Given the description of an element on the screen output the (x, y) to click on. 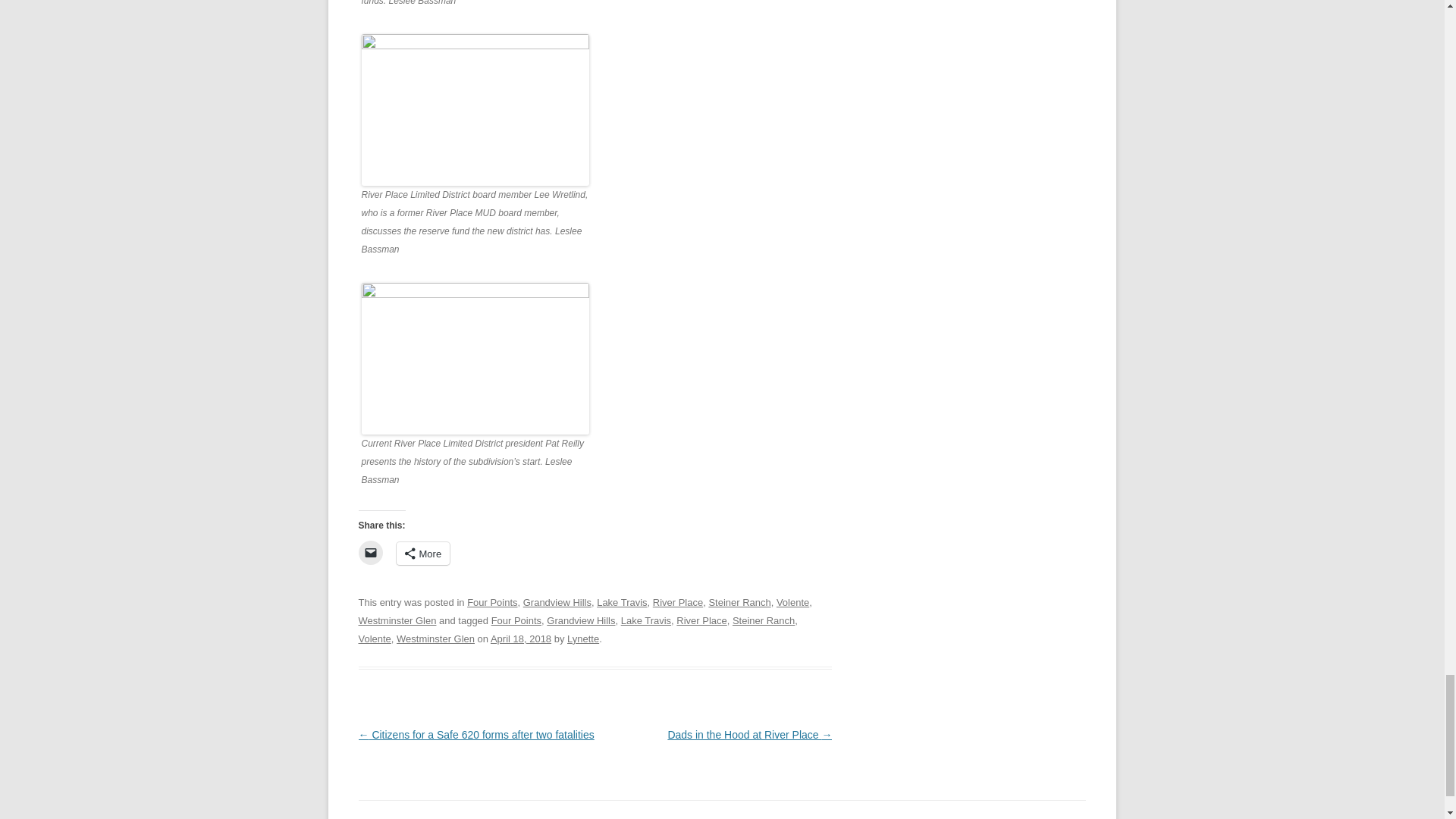
Volente (374, 638)
Steiner Ranch (763, 620)
Westminster Glen (396, 620)
Westminster Glen (435, 638)
April 18, 2018 (520, 638)
More (422, 553)
Grandview Hills (556, 602)
7:30 pm (520, 638)
Four Points (516, 620)
View all posts by Lynette (582, 638)
Lake Travis (646, 620)
Steiner Ranch (738, 602)
Volente (792, 602)
River Place (677, 602)
Four Points (491, 602)
